Given the description of an element on the screen output the (x, y) to click on. 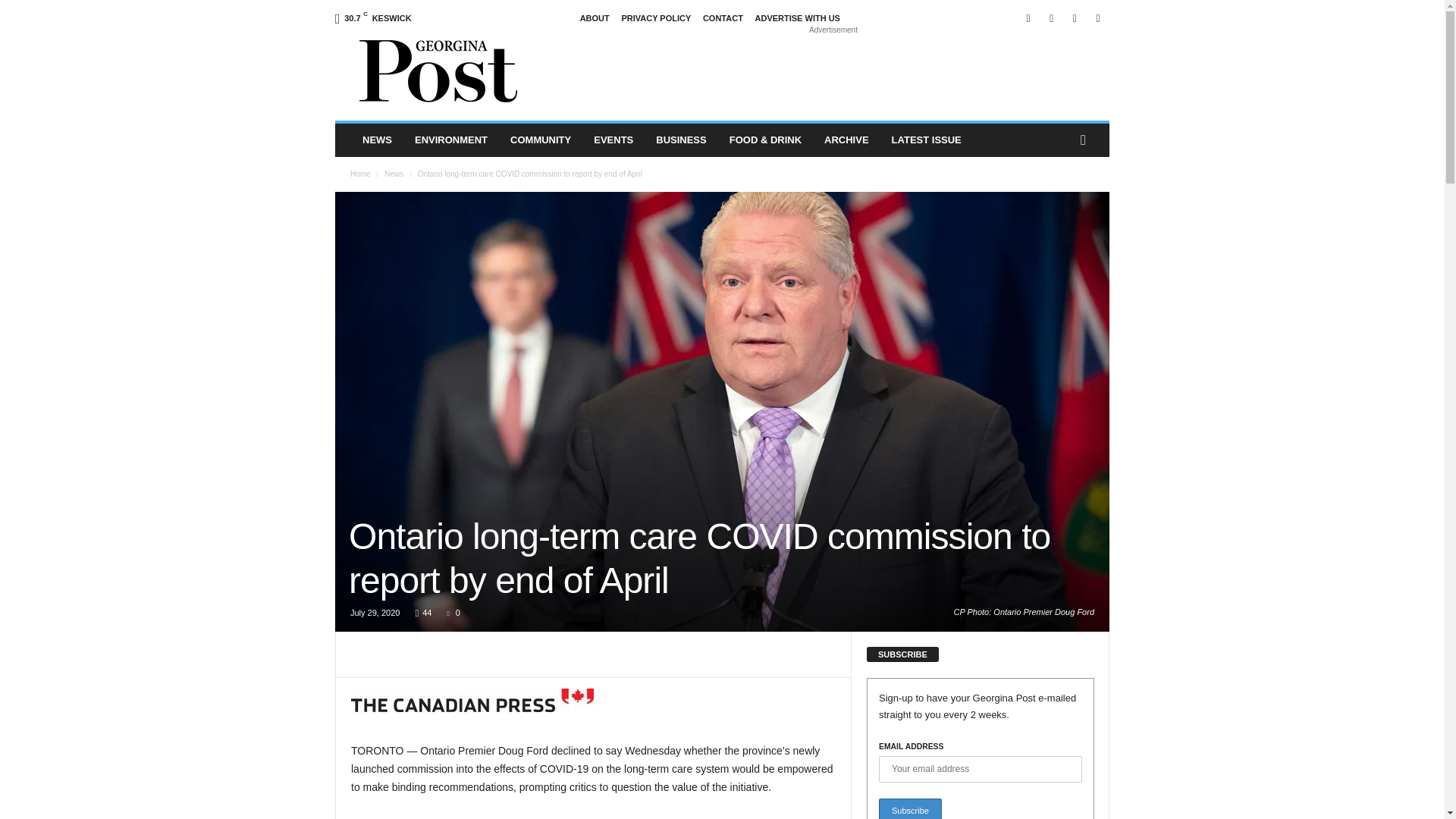
Subscribe (910, 808)
